Given the description of an element on the screen output the (x, y) to click on. 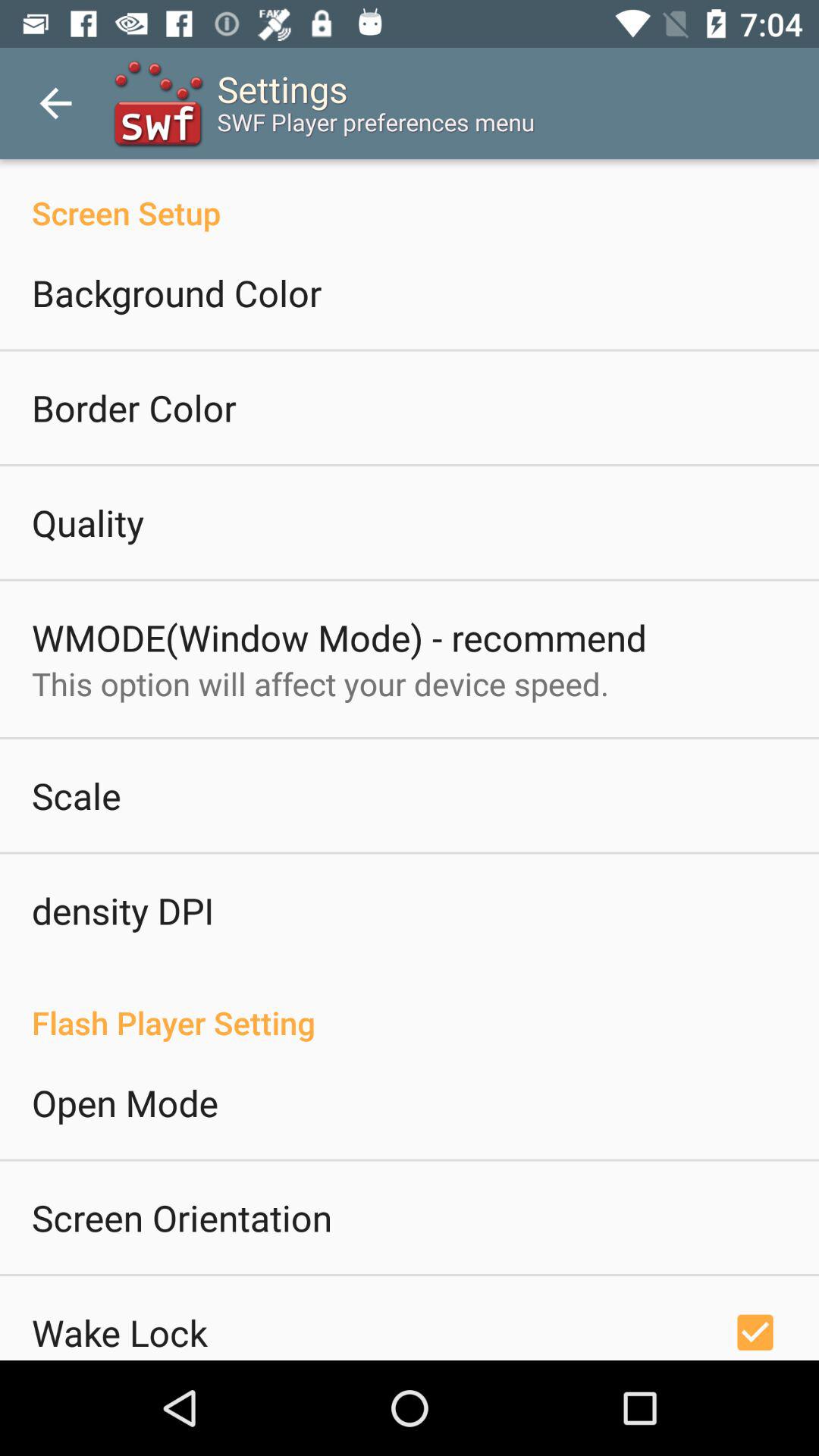
tap item above this option will (338, 637)
